Given the description of an element on the screen output the (x, y) to click on. 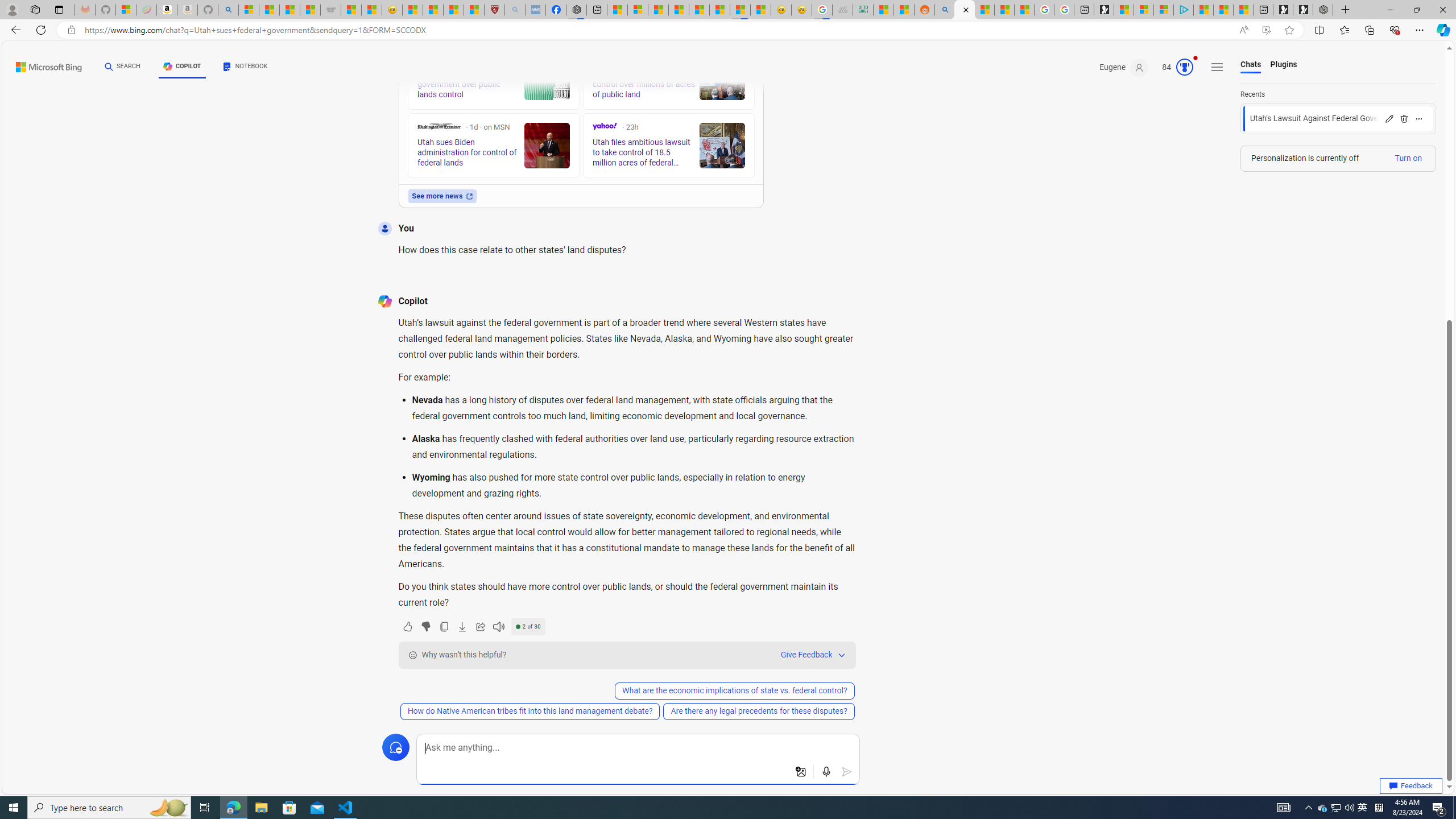
Settings and quick links (1217, 67)
Like (406, 626)
Eugene (1123, 67)
Load chat (1337, 118)
Delete (1404, 118)
Enhance video (1266, 29)
